Given the description of an element on the screen output the (x, y) to click on. 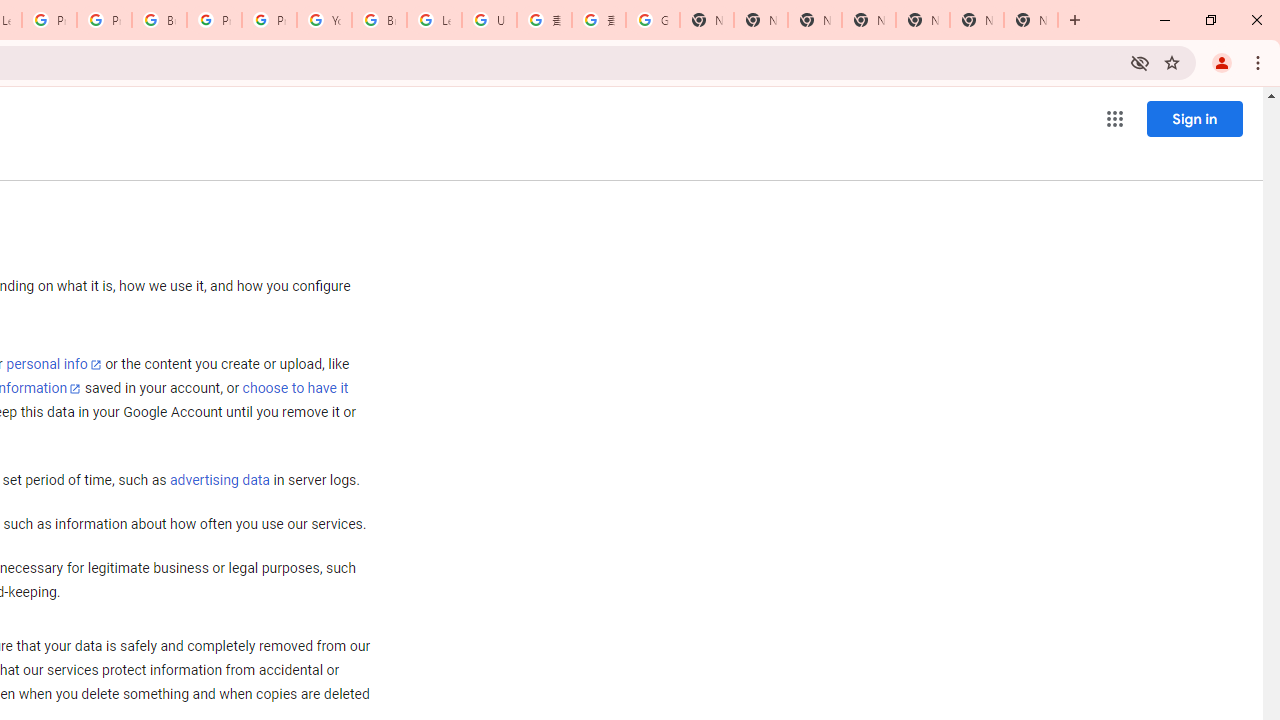
personal info (54, 364)
advertising data (219, 481)
